Given the description of an element on the screen output the (x, y) to click on. 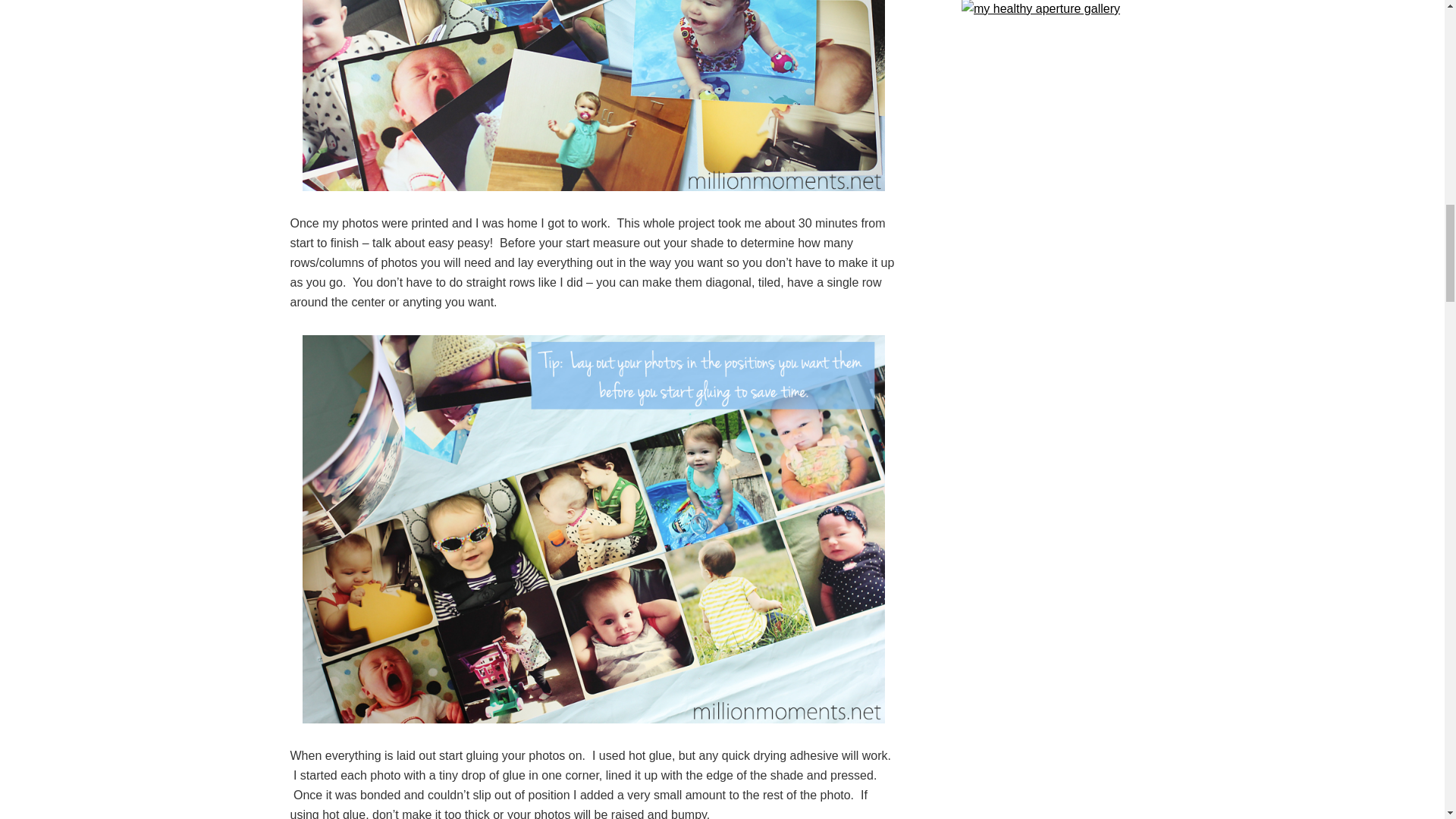
my healthy aperture gallery (1039, 8)
